Given the description of an element on the screen output the (x, y) to click on. 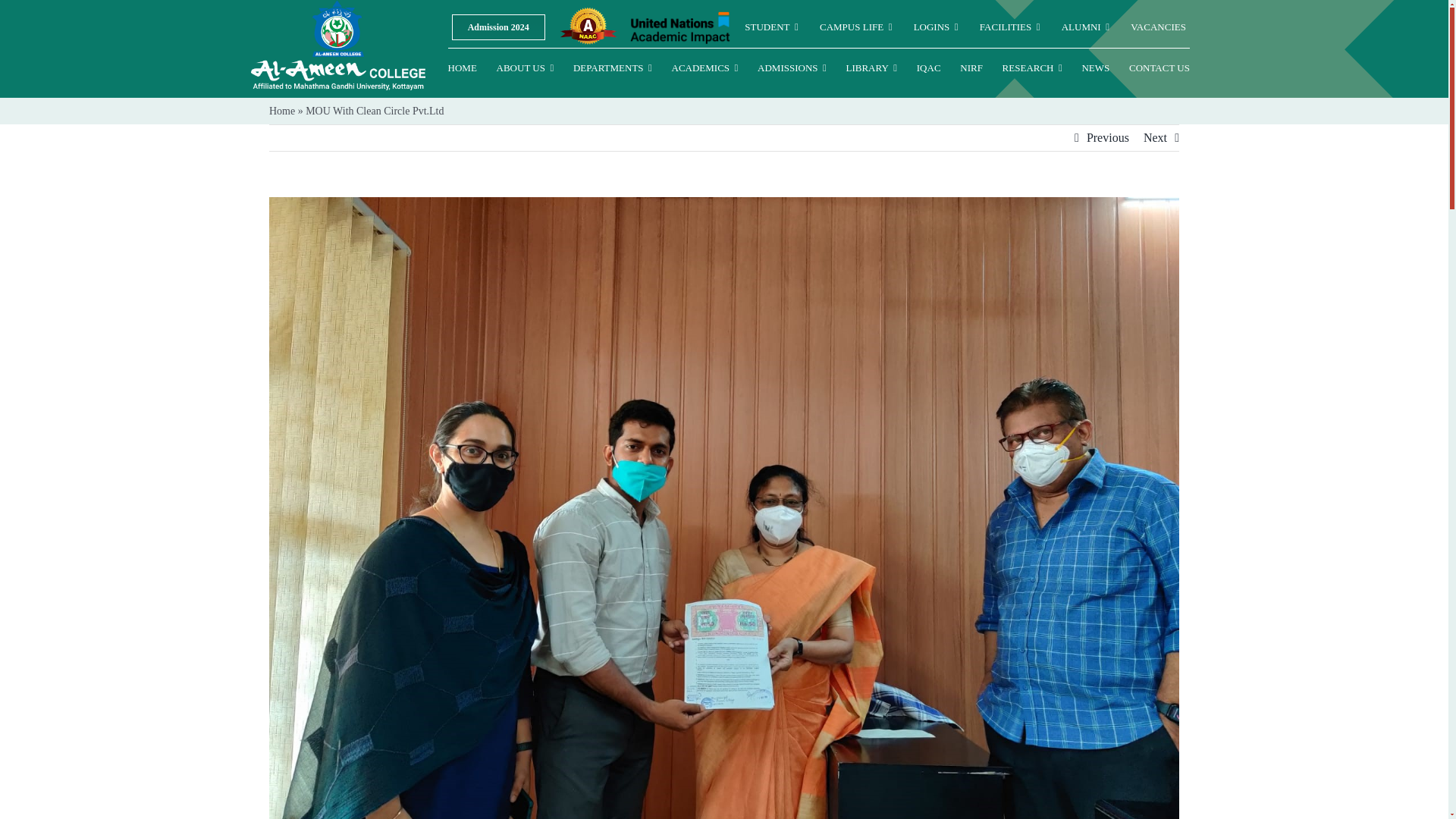
STUDENT (770, 26)
CAMPUS LIFE (855, 26)
Admission 2024 (497, 27)
